Given the description of an element on the screen output the (x, y) to click on. 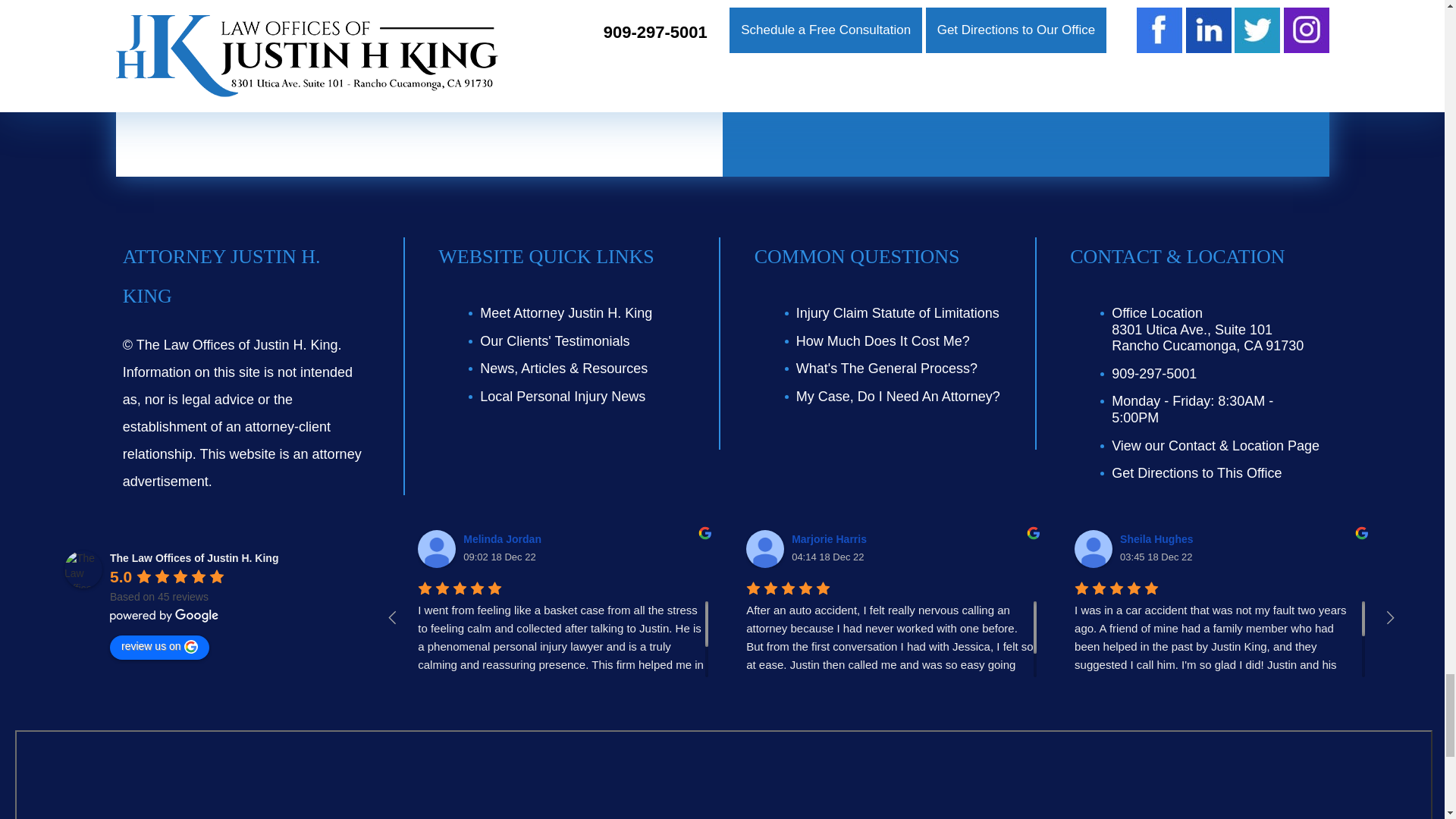
Submit Your Message (1152, 58)
The Law Offices of Justin H. King (82, 569)
Marjorie Harris (764, 548)
powered by Google (164, 615)
Sheila Hughes (1093, 548)
Margaret James (1422, 548)
Melinda Jordan (436, 548)
